Given the description of an element on the screen output the (x, y) to click on. 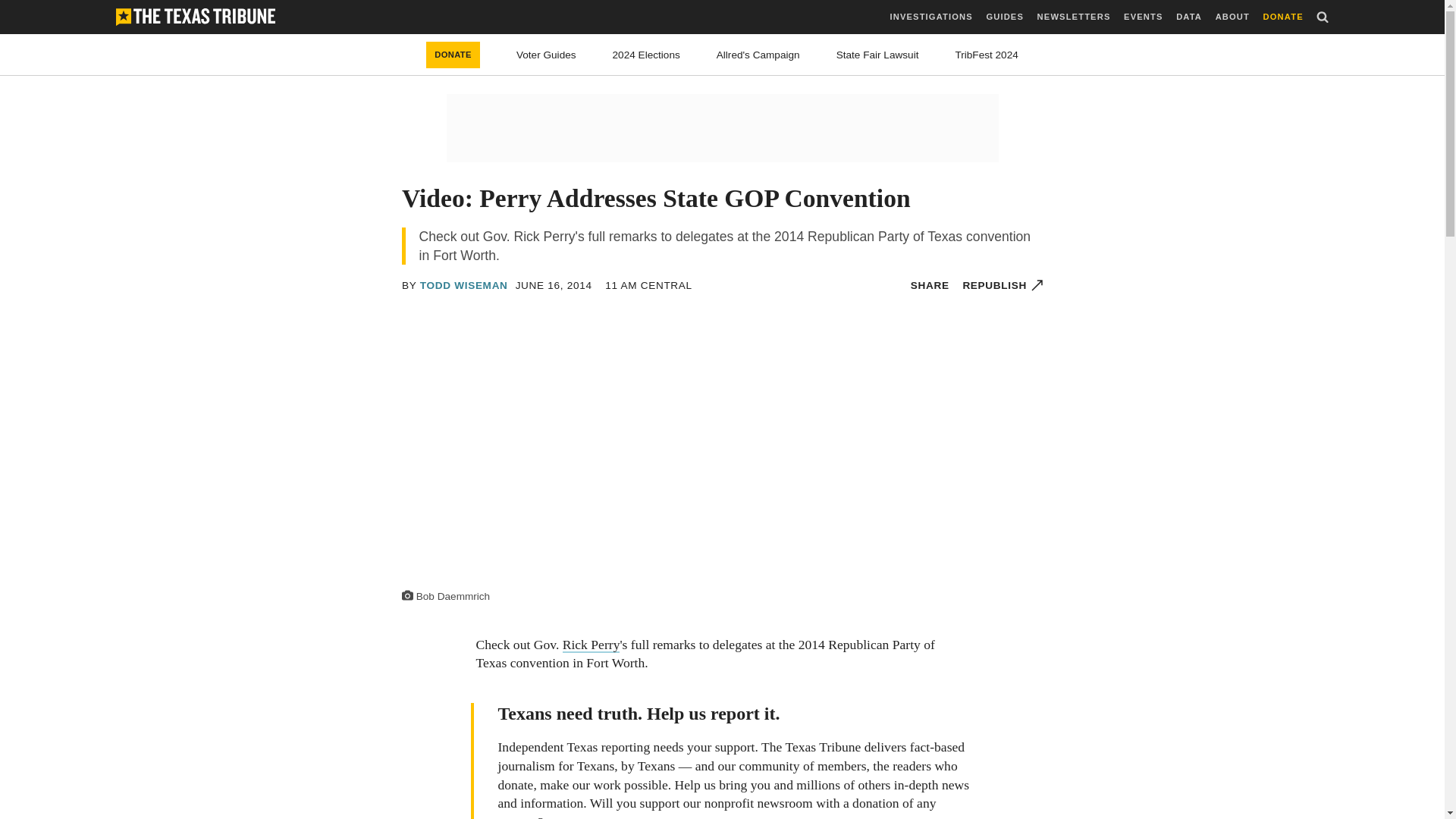
ABOUT (1232, 17)
NEWSLETTERS (1073, 17)
State Fair Lawsuit (876, 54)
DONATE (453, 54)
INVESTIGATIONS (930, 17)
TribFest 2024 (986, 54)
Allred's Campaign (757, 54)
2024 Elections (645, 54)
Voter Guides (546, 54)
DONATE (1283, 17)
